Given the description of an element on the screen output the (x, y) to click on. 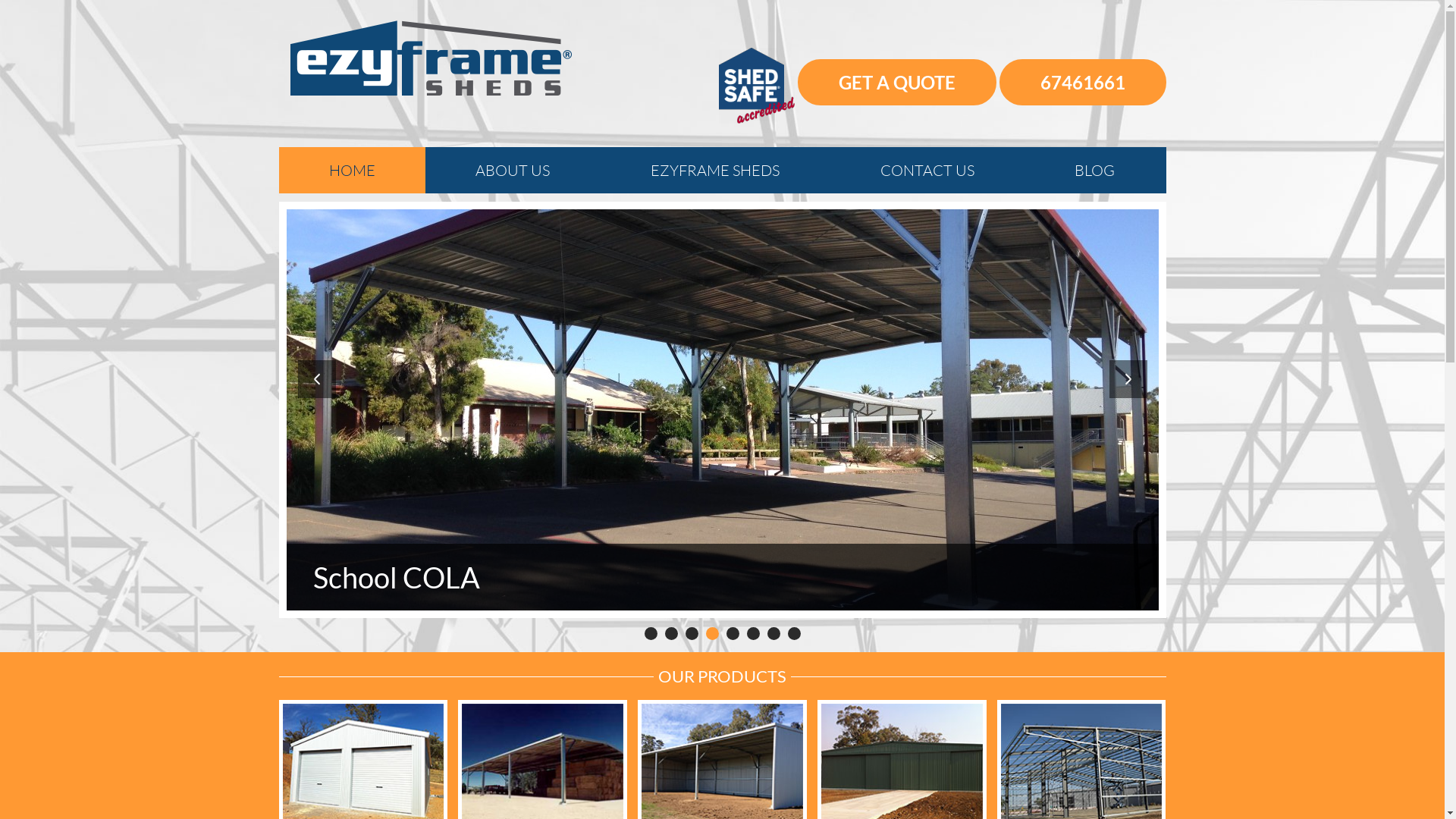
1 Element type: text (650, 633)
3 Element type: text (691, 633)
Next Element type: text (1127, 379)
67461661 Element type: text (1082, 82)
EZYFRAME SHEDS Element type: text (715, 170)
BLOG Element type: text (1094, 170)
5 Element type: text (732, 633)
2 Element type: text (670, 633)
Machinery Sheds Element type: text (722, 409)
8 Element type: text (793, 633)
4 Element type: text (711, 633)
HOME Element type: text (352, 170)
Prev Element type: text (316, 379)
CONTACT US Element type: text (926, 170)
ABOUT US Element type: text (512, 170)
7 Element type: text (773, 633)
GET A QUOTE Element type: text (896, 82)
6 Element type: text (752, 633)
